Given the description of an element on the screen output the (x, y) to click on. 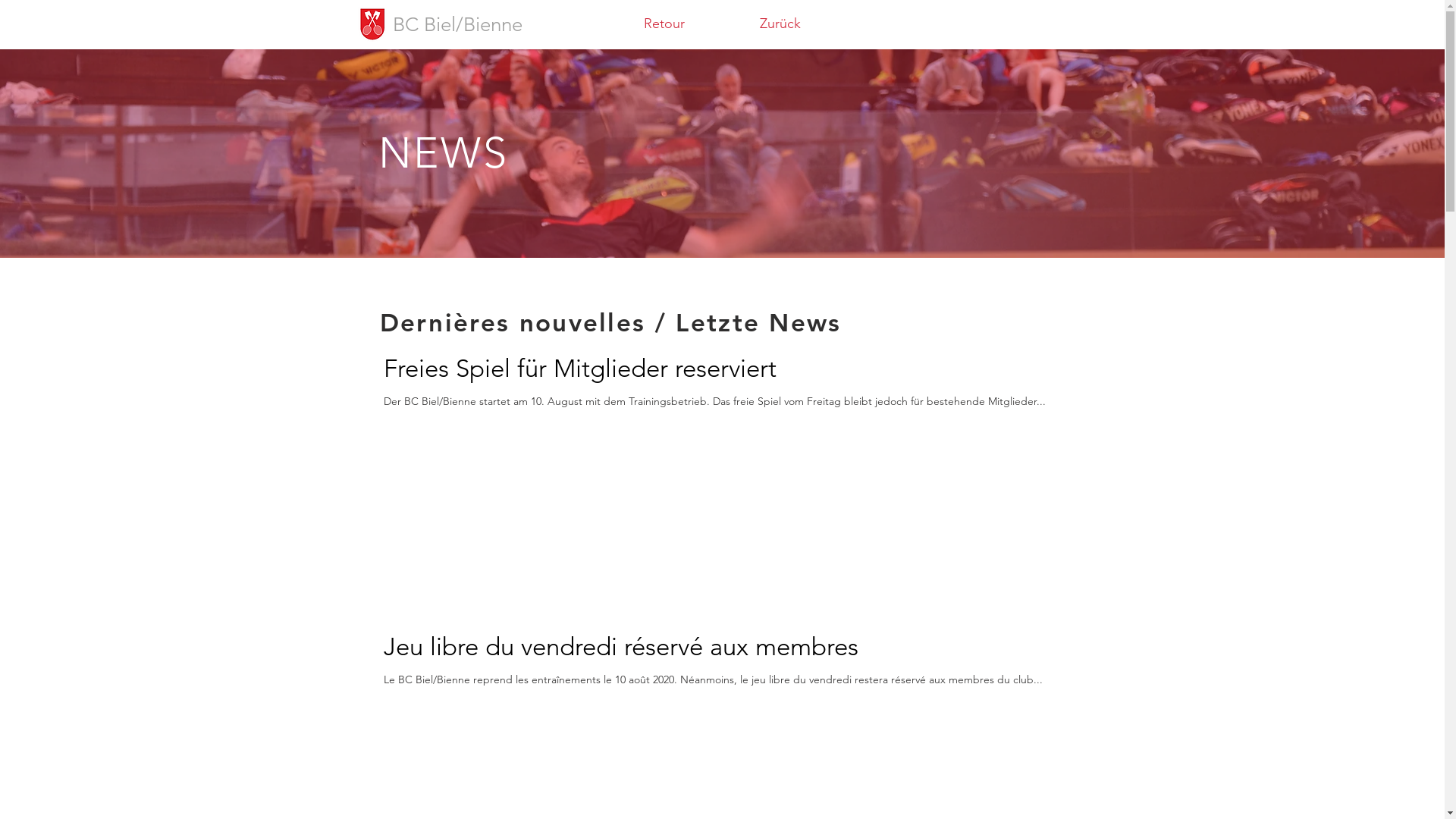
Retour Element type: text (664, 24)
BC Biel/Bienne Element type: text (457, 24)
